Given the description of an element on the screen output the (x, y) to click on. 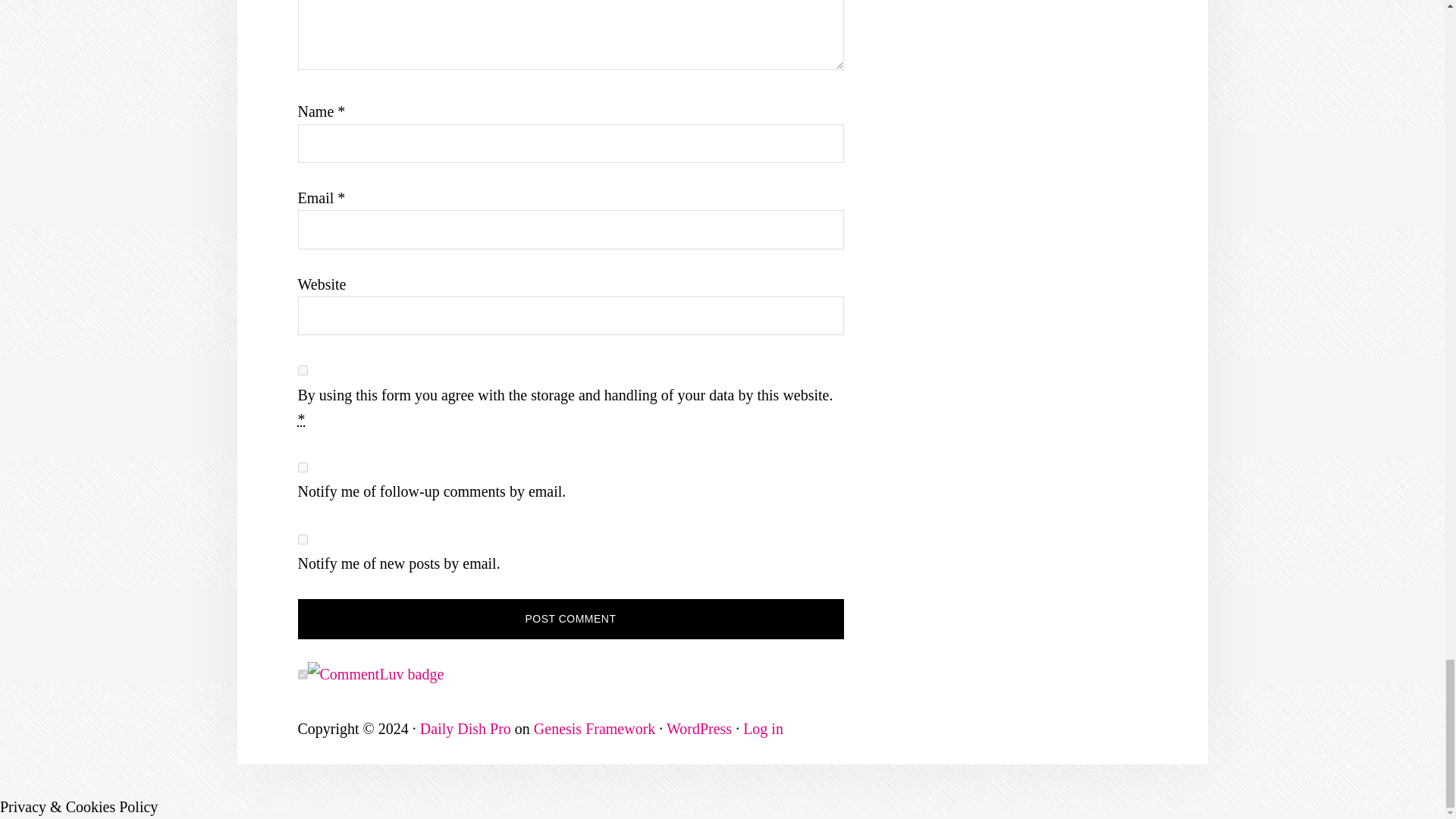
Post Comment (570, 618)
CommentLuv is enabled (375, 673)
subscribe (302, 467)
subscribe (302, 539)
1 (302, 370)
on (302, 674)
